Given the description of an element on the screen output the (x, y) to click on. 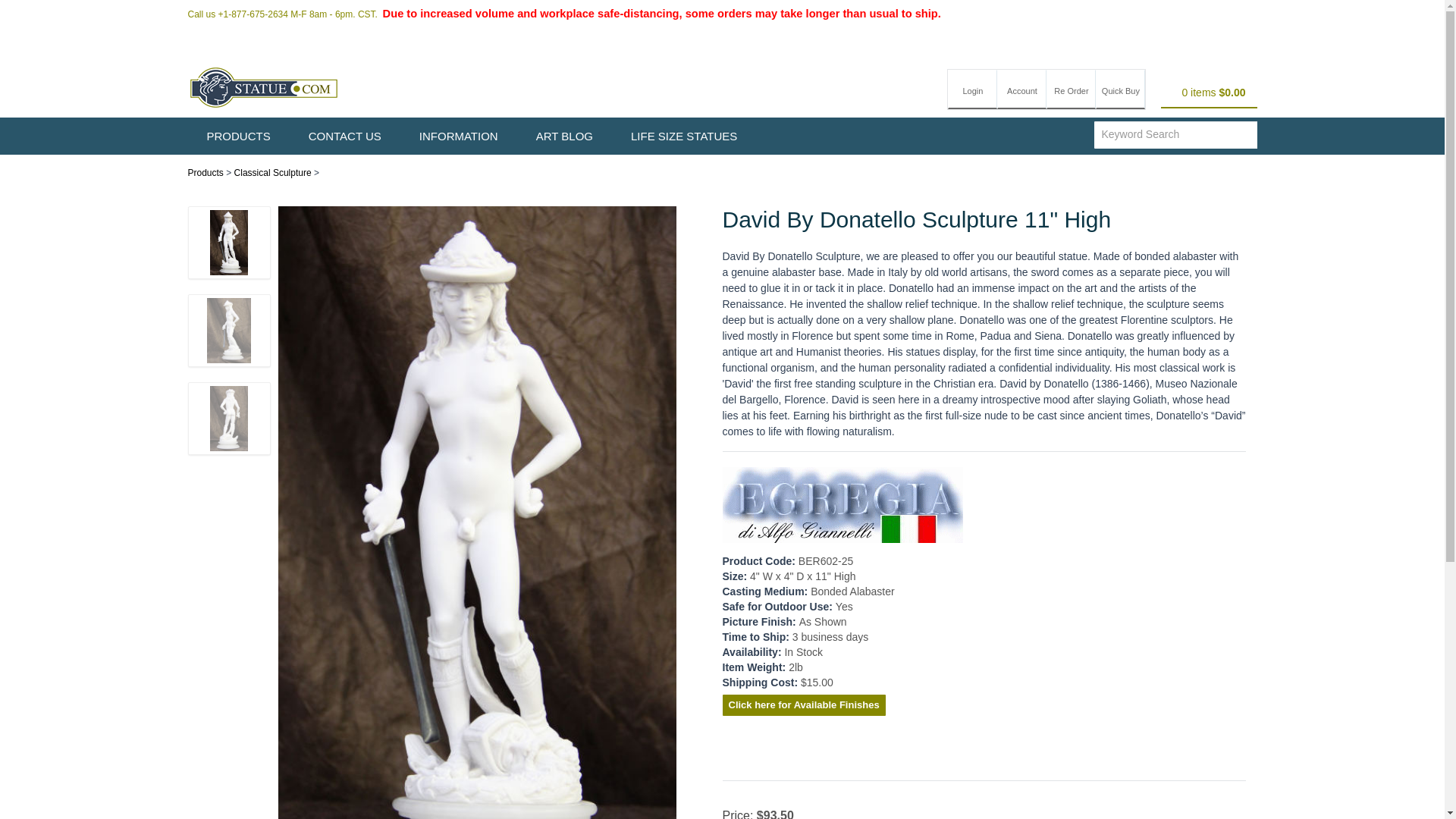
Quick Buy (1120, 88)
Login (972, 88)
Products (205, 172)
Click here for Available Finishes (803, 705)
INFORMATION (458, 135)
LIFE SIZE STATUES (683, 135)
Re Order (1071, 88)
Login (972, 88)
Classical Sculpture (272, 172)
ART BLOG (563, 135)
CONTACT US (344, 135)
PRODUCTS (238, 135)
Account (1021, 88)
